Given the description of an element on the screen output the (x, y) to click on. 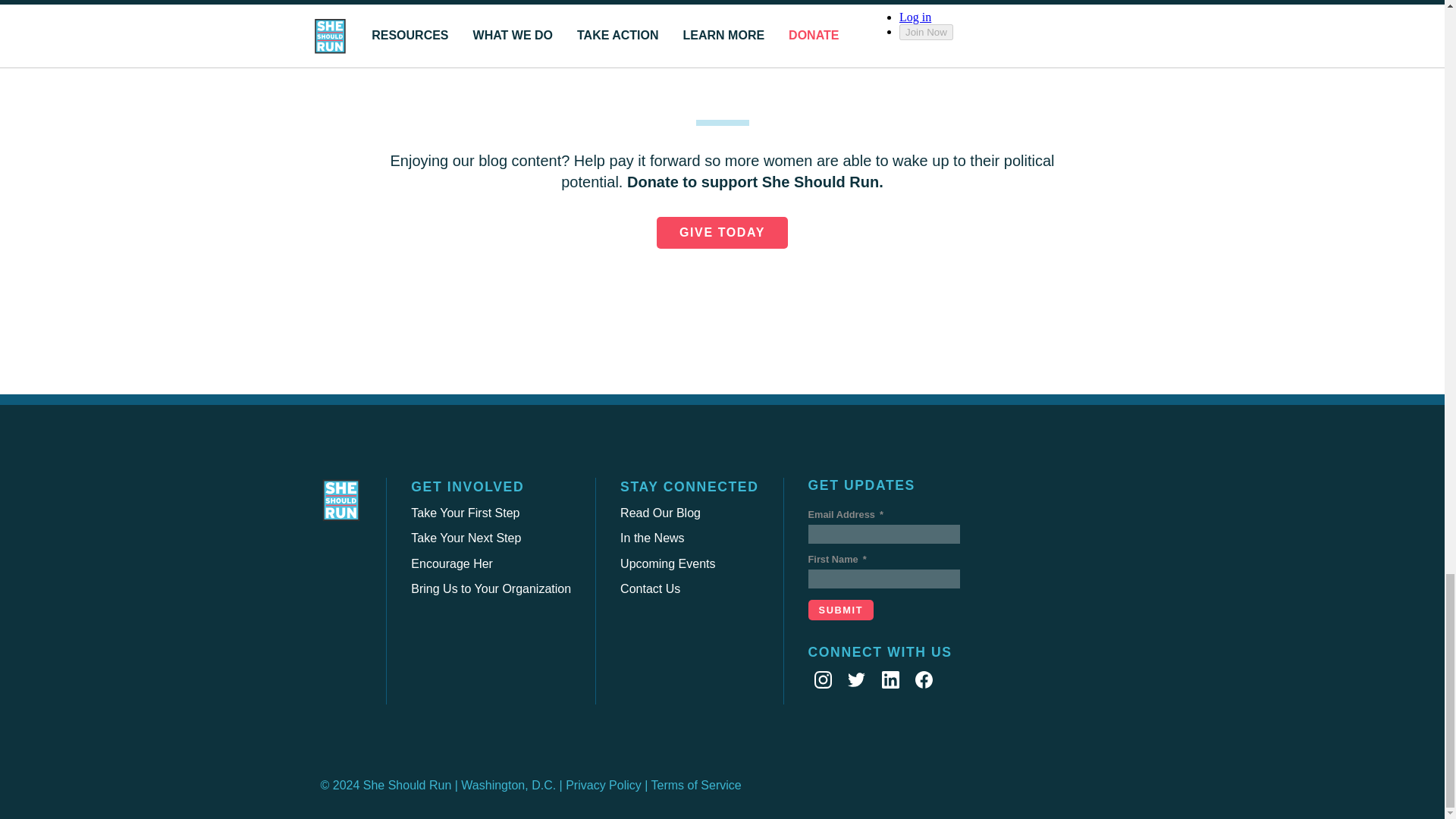
Upcoming Events (667, 563)
Contact Us (649, 588)
Facebook icon (924, 679)
Take Your First Step (464, 512)
Twitter icon (855, 679)
Bring Us to Your Organization (490, 588)
Instagram icon (822, 679)
Take Your Next Step (465, 537)
GET INVOLVED (467, 486)
LinkedIn icon (890, 679)
